Given the description of an element on the screen output the (x, y) to click on. 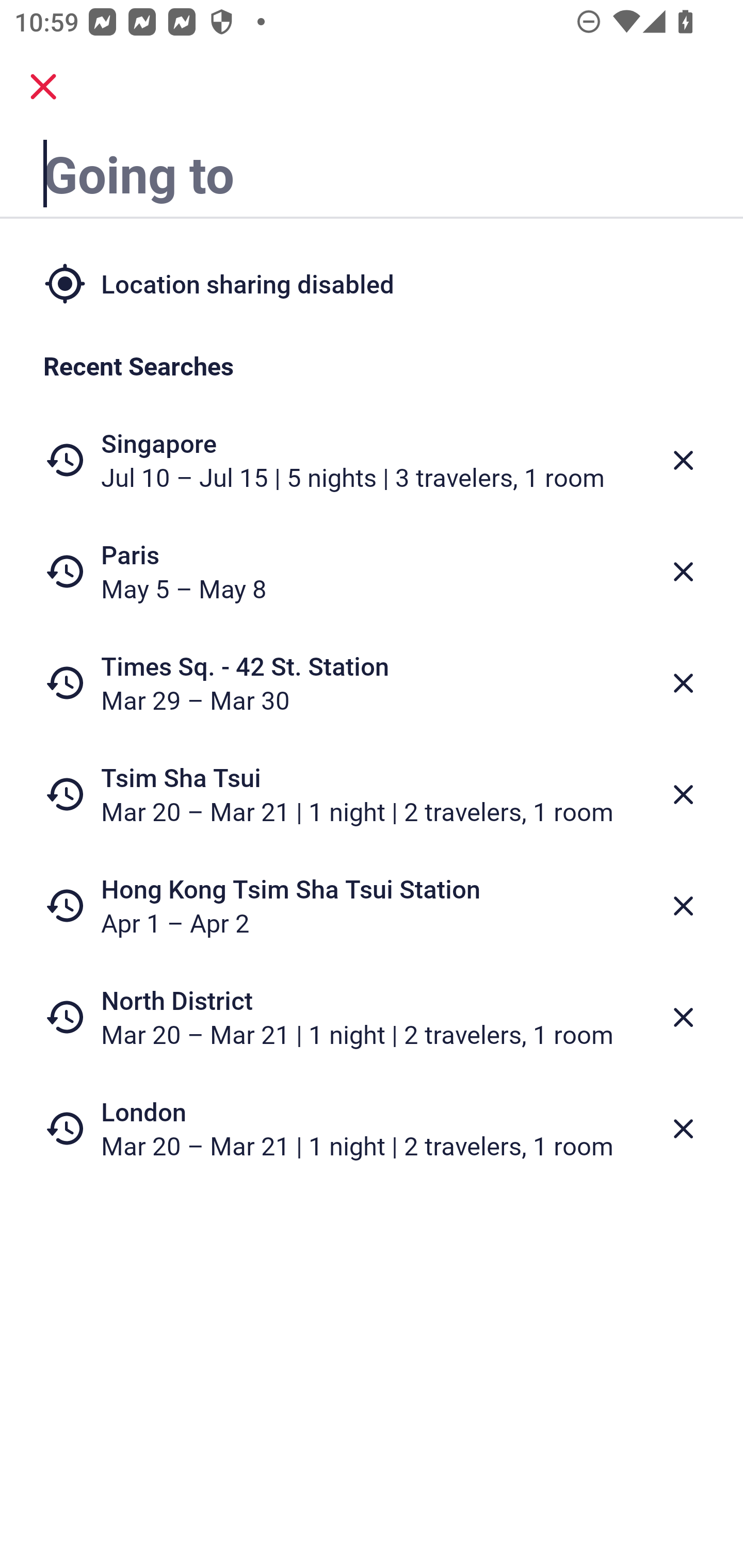
close. (43, 86)
Location sharing disabled (371, 283)
Delete from recent searches (683, 460)
Paris May 5 – May 8 (371, 571)
Delete from recent searches (683, 571)
Times Sq. - 42 St. Station Mar 29 – Mar 30 (371, 682)
Delete from recent searches (683, 682)
Delete from recent searches (683, 794)
Hong Kong Tsim Sha Tsui Station Apr 1 – Apr 2 (371, 905)
Delete from recent searches (683, 906)
Delete from recent searches (683, 1017)
Delete from recent searches (683, 1128)
